Given the description of an element on the screen output the (x, y) to click on. 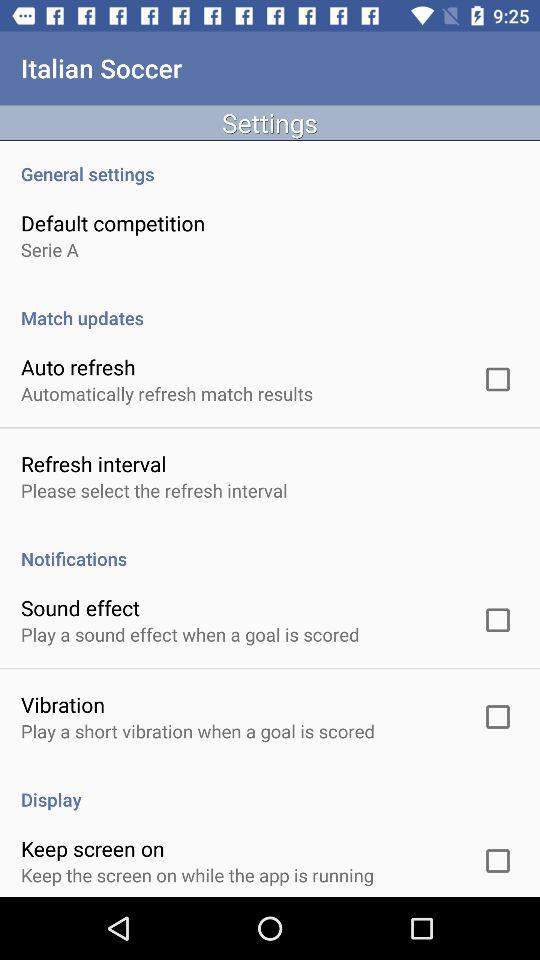
tap the app above the notifications app (154, 490)
